Given the description of an element on the screen output the (x, y) to click on. 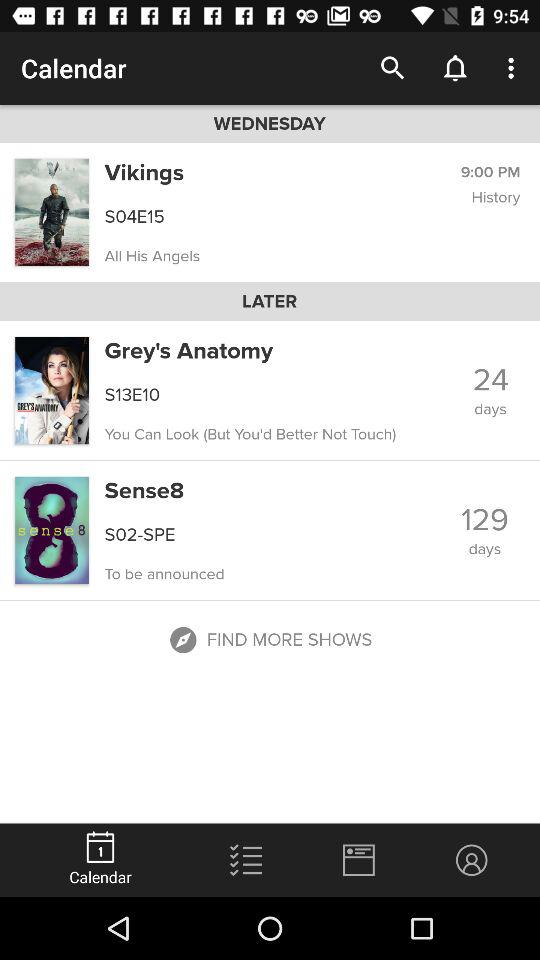
click on user profile icon (471, 859)
click on the button which is below the to be announced (269, 640)
